Given the description of an element on the screen output the (x, y) to click on. 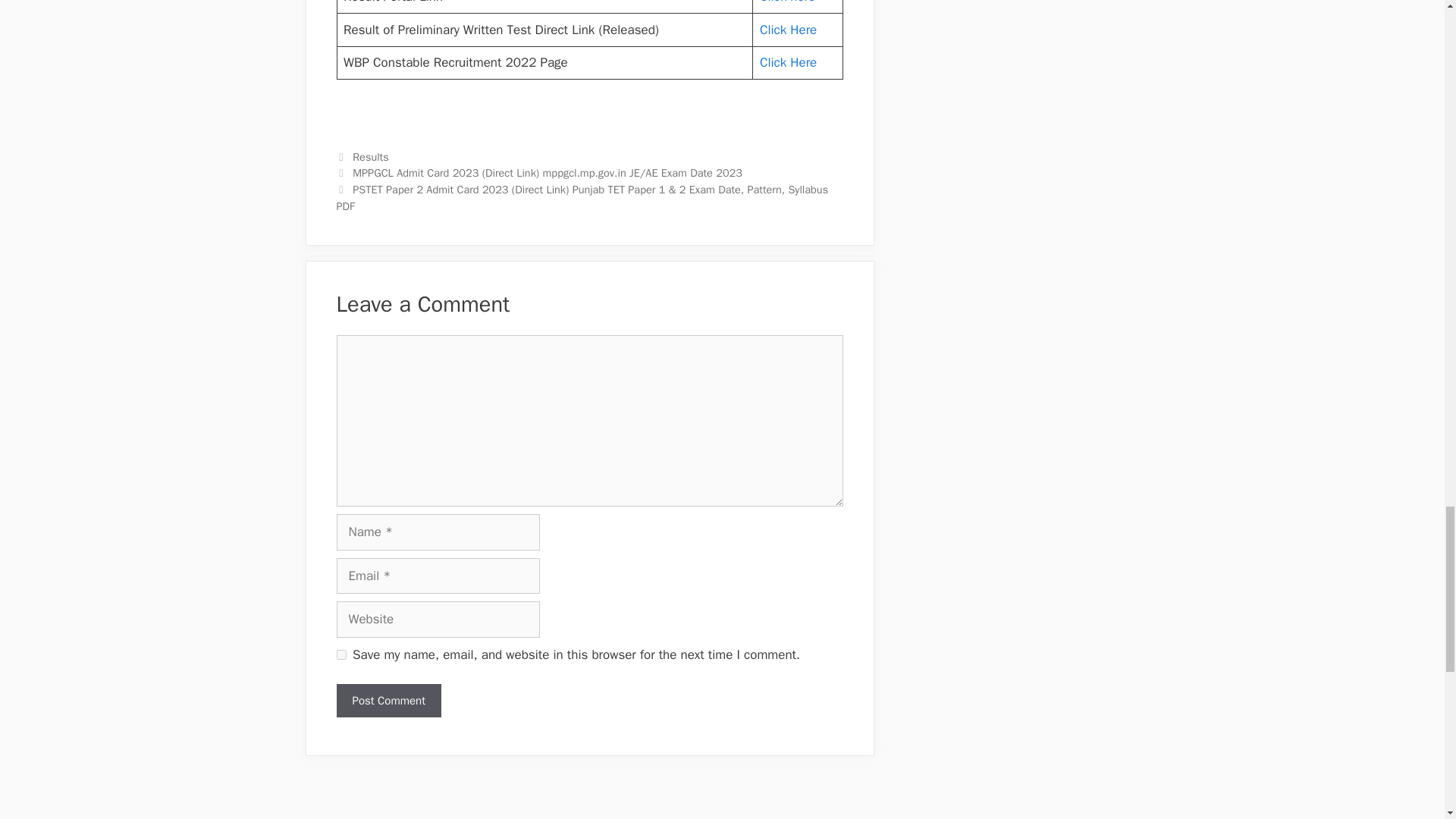
Click Here (788, 29)
Click Here (788, 62)
yes (341, 655)
Click here (787, 2)
Post Comment (388, 700)
Results (370, 156)
